Given the description of an element on the screen output the (x, y) to click on. 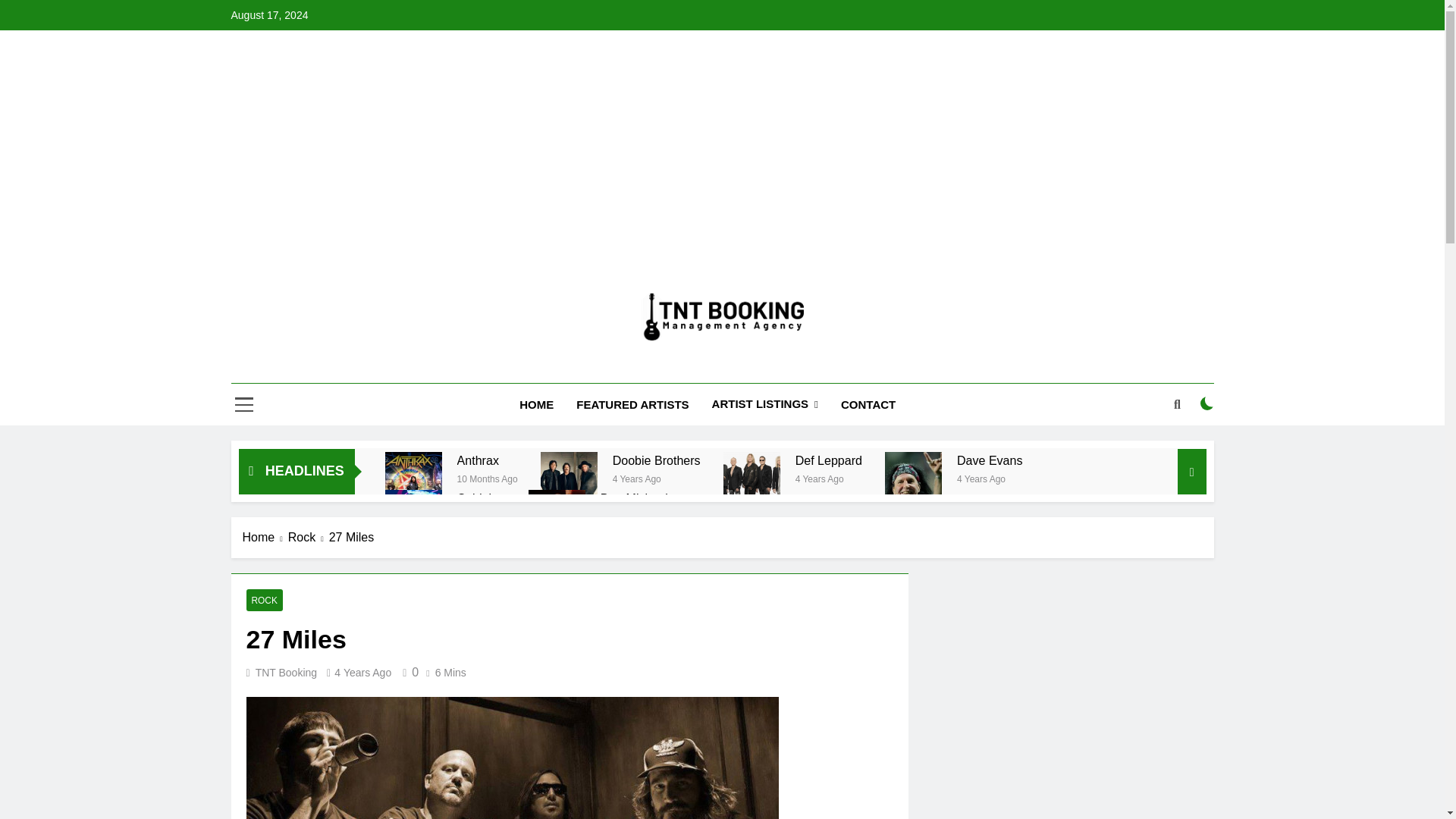
Doobie Brothers (656, 460)
Anthrax (487, 460)
0 (408, 671)
4 Years Ago (981, 477)
Doobie Brothers (656, 460)
10 Months Ago (487, 477)
4 Years Ago (636, 477)
Def Leppard (827, 460)
Coldplay (413, 518)
Dave Evans (989, 460)
